Given the description of an element on the screen output the (x, y) to click on. 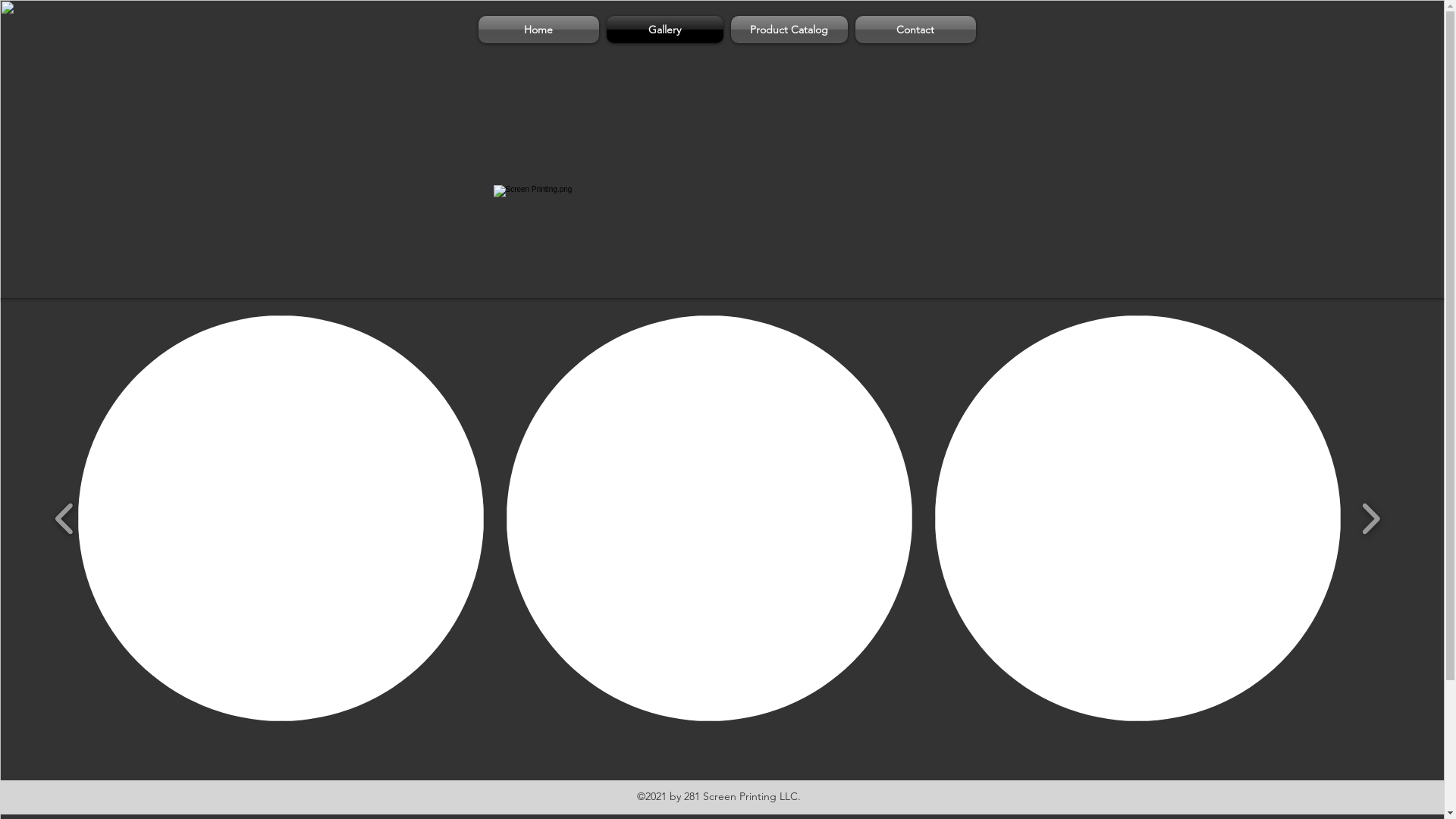
Product Catalog Element type: text (788, 29)
Gallery Element type: text (664, 29)
Home Element type: text (539, 29)
Contact Element type: text (912, 29)
